Given the description of an element on the screen output the (x, y) to click on. 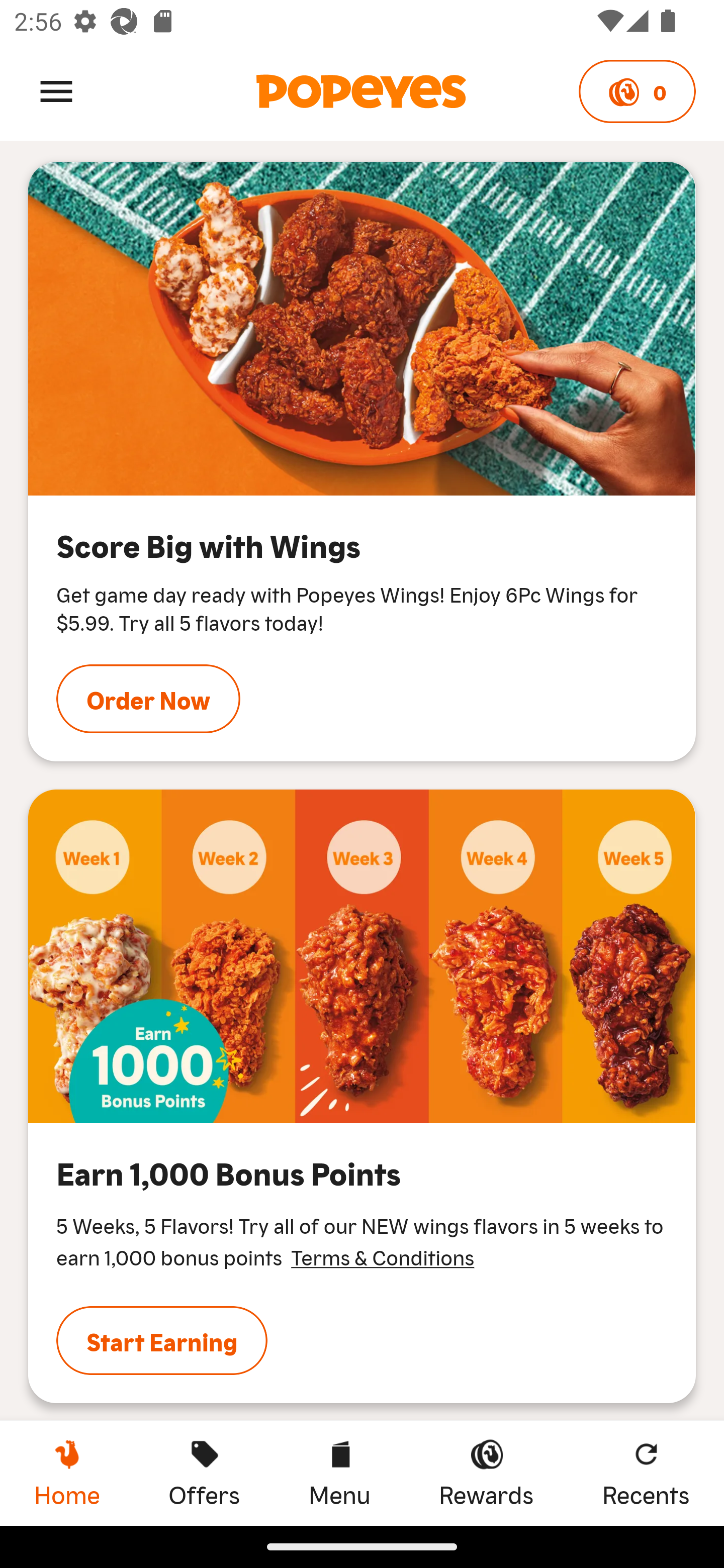
Menu  (56, 90)
0 Points 0 (636, 91)
Score Big with Wings (361, 328)
Order Now (148, 698)
Earn 1,000 Bonus Points (361, 956)
Start Earning (161, 1340)
Home, current page Home Home, current page (66, 1472)
Offers Offers Offers (203, 1472)
Menu Menu Menu (339, 1472)
Rewards Rewards Rewards (486, 1472)
Recents Recents Recents (646, 1472)
